Given the description of an element on the screen output the (x, y) to click on. 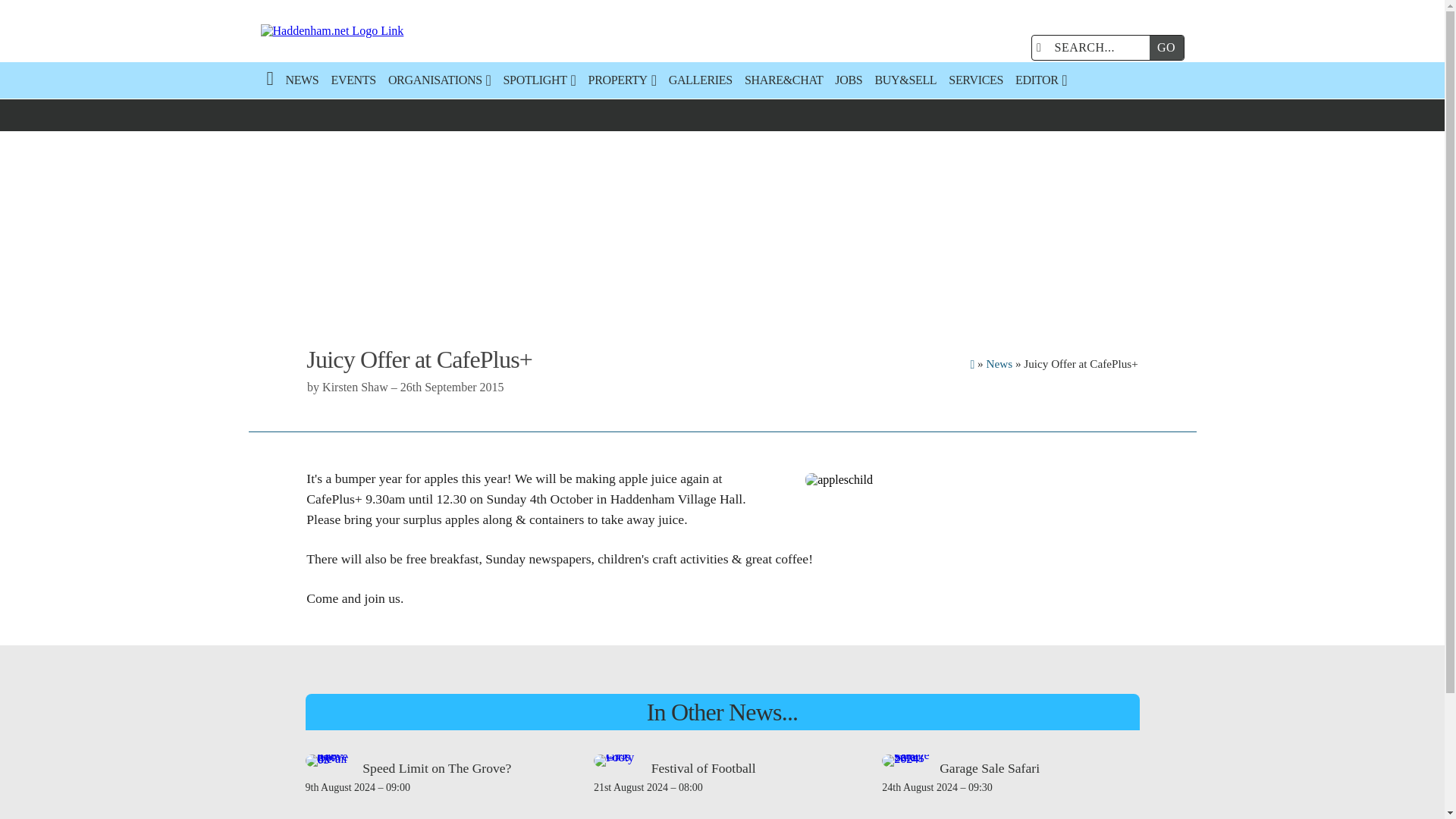
Visit our Facebook Page (975, 46)
NEWS (301, 80)
Haddenham.net Home (406, 31)
EVENTS (352, 80)
SPOTLIGHT (539, 80)
JOBS (847, 80)
SEARCH... (1093, 47)
GALLERIES (700, 80)
PROPERTY (622, 80)
